Given the description of an element on the screen output the (x, y) to click on. 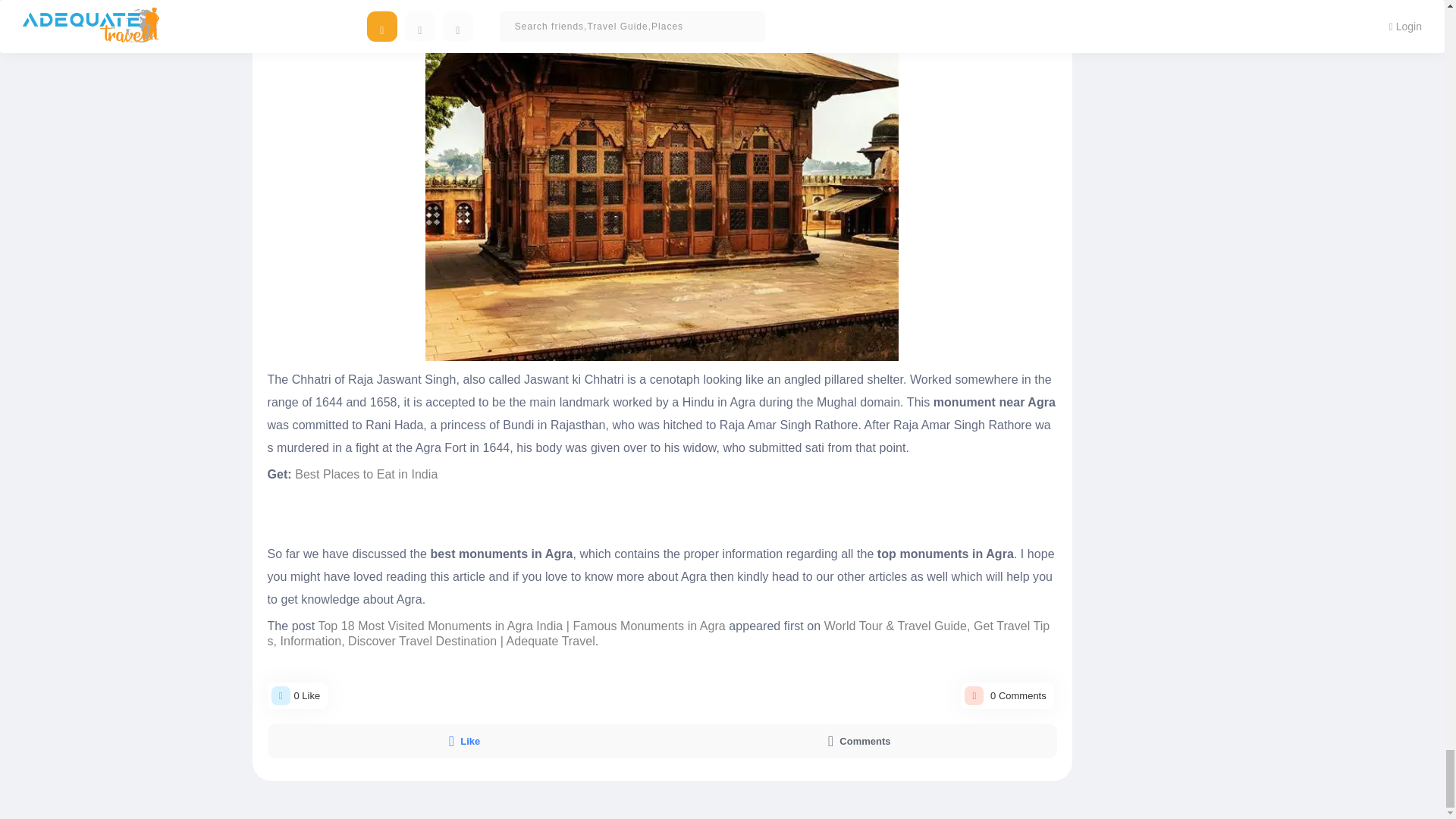
Best Places to Eat in India (366, 473)
